Given the description of an element on the screen output the (x, y) to click on. 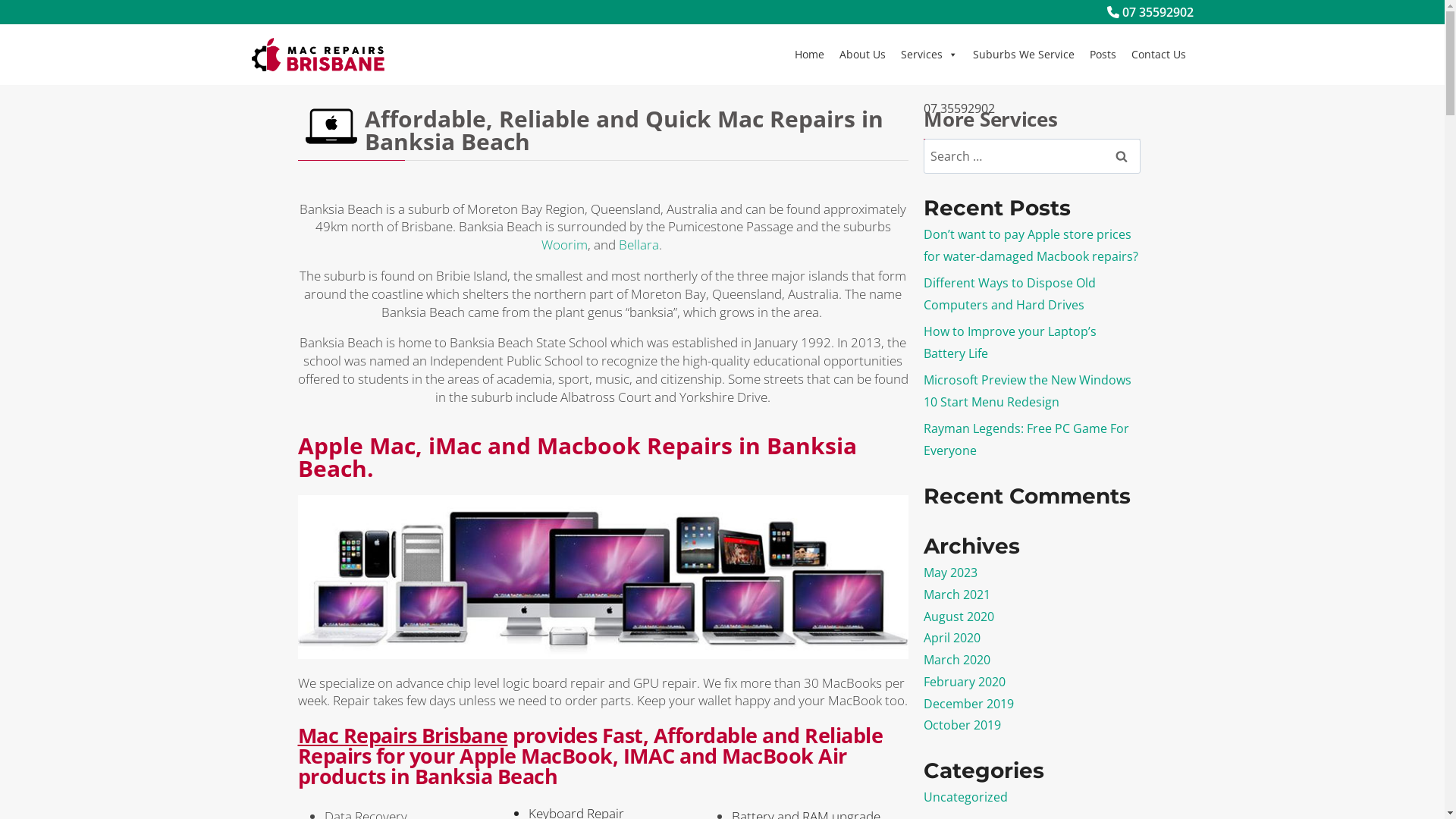
Suburbs We Service Element type: text (1022, 54)
March 2021 Element type: text (956, 594)
Search Element type: text (1121, 156)
October 2019 Element type: text (962, 724)
Different Ways to Dispose Old Computers and Hard Drives Element type: text (1009, 293)
December 2019 Element type: text (968, 703)
April 2020 Element type: text (951, 637)
February 2020 Element type: text (964, 681)
Microsoft Preview the New Windows 10 Start Menu Redesign Element type: text (1027, 390)
May 2023 Element type: text (950, 572)
About Us Element type: text (861, 54)
Woorim Element type: text (564, 244)
Bellara Element type: text (638, 244)
07 35592902 Element type: text (1150, 11)
Posts Element type: text (1102, 54)
Rayman Legends: Free PC Game For Everyone Element type: text (1026, 439)
Uncategorized Element type: text (965, 796)
August 2020 Element type: text (958, 616)
Contact Us Element type: text (1158, 54)
March 2020 Element type: text (956, 659)
Services Element type: text (929, 54)
Home Element type: text (809, 54)
